Given the description of an element on the screen output the (x, y) to click on. 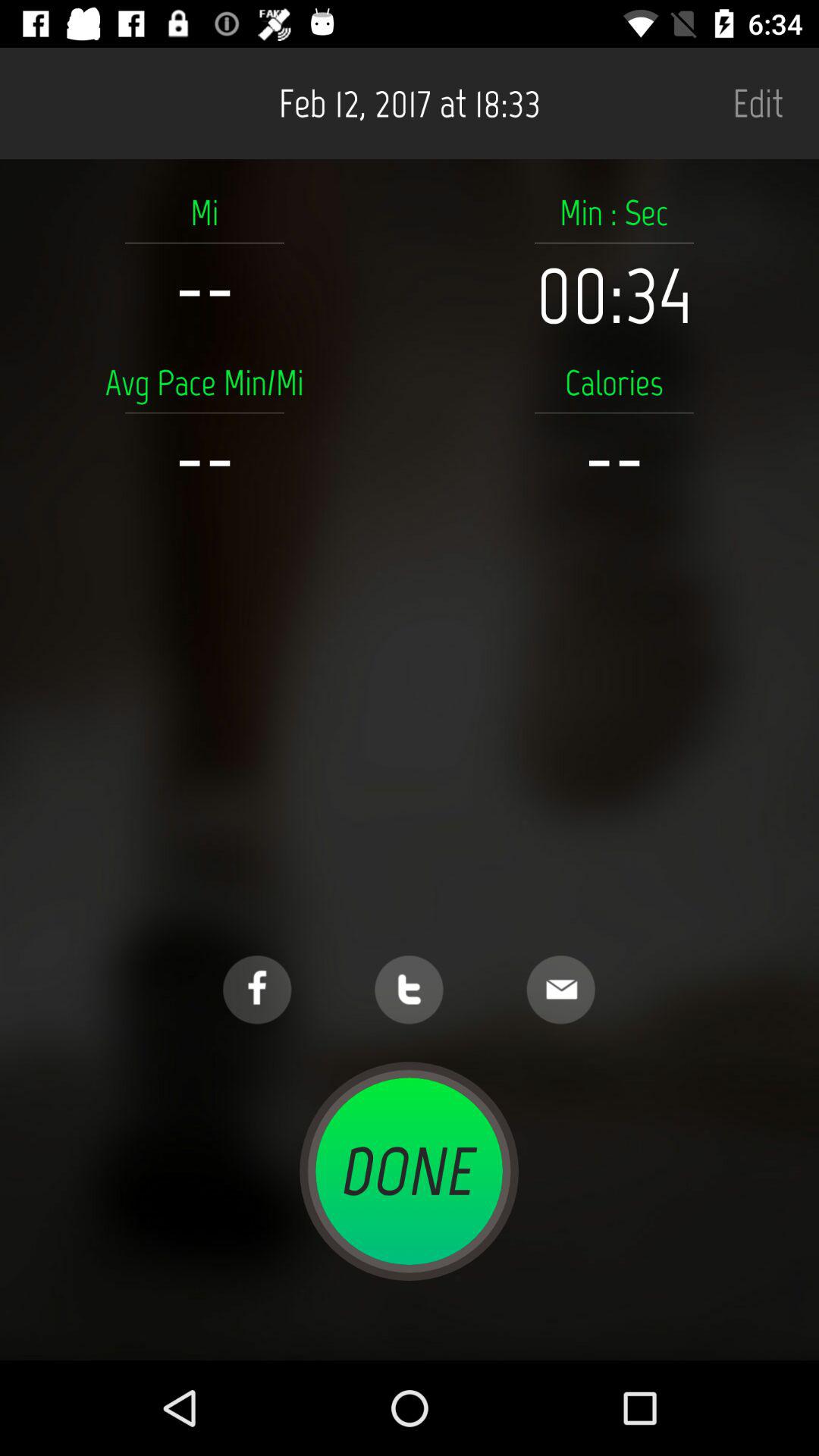
share to twitter (409, 989)
